Given the description of an element on the screen output the (x, y) to click on. 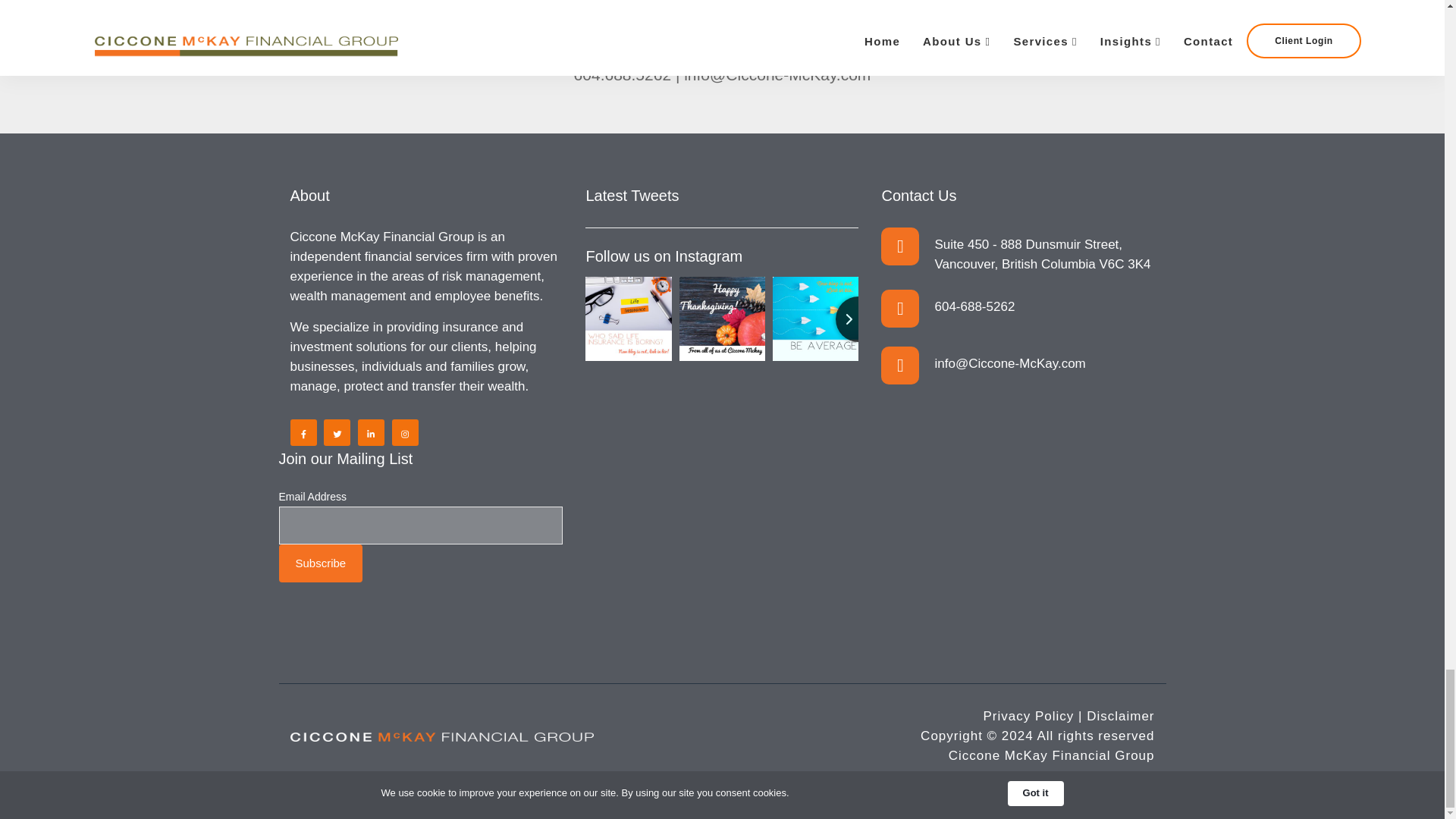
Subscribe (320, 563)
